Given the description of an element on the screen output the (x, y) to click on. 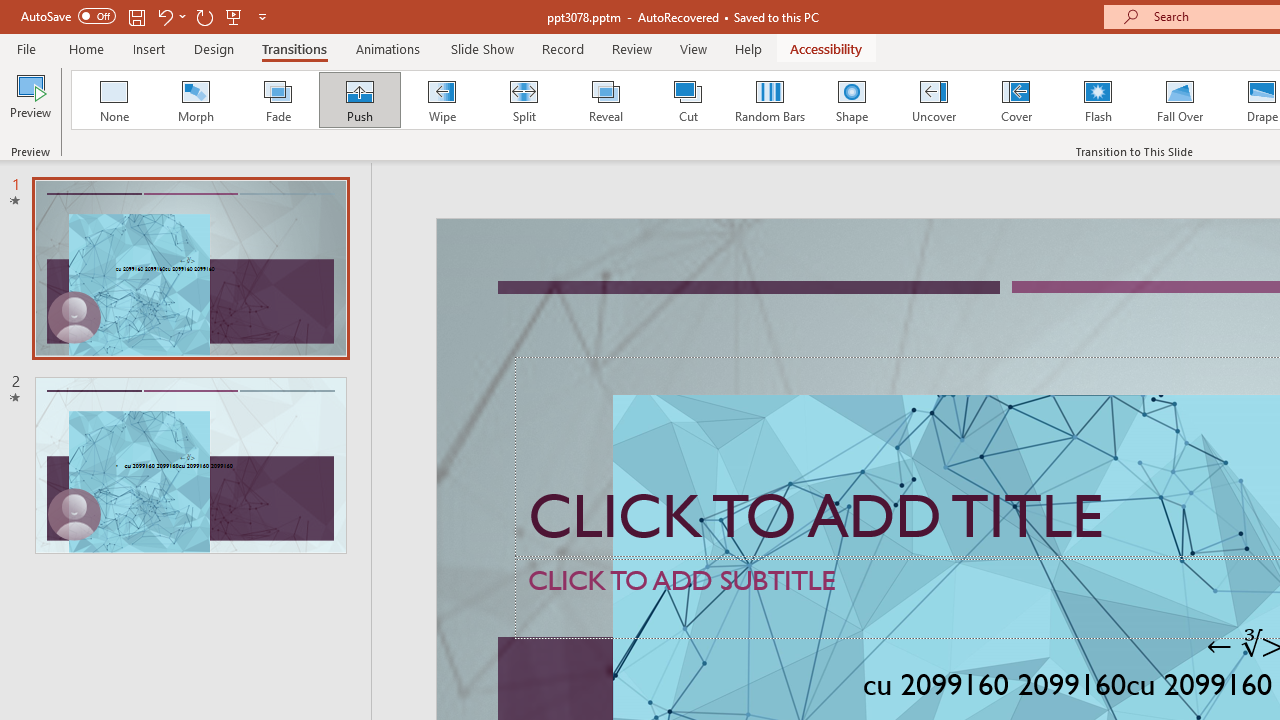
Cover (1016, 100)
Flash (1098, 100)
Reveal (605, 100)
Fade (277, 100)
